Given the description of an element on the screen output the (x, y) to click on. 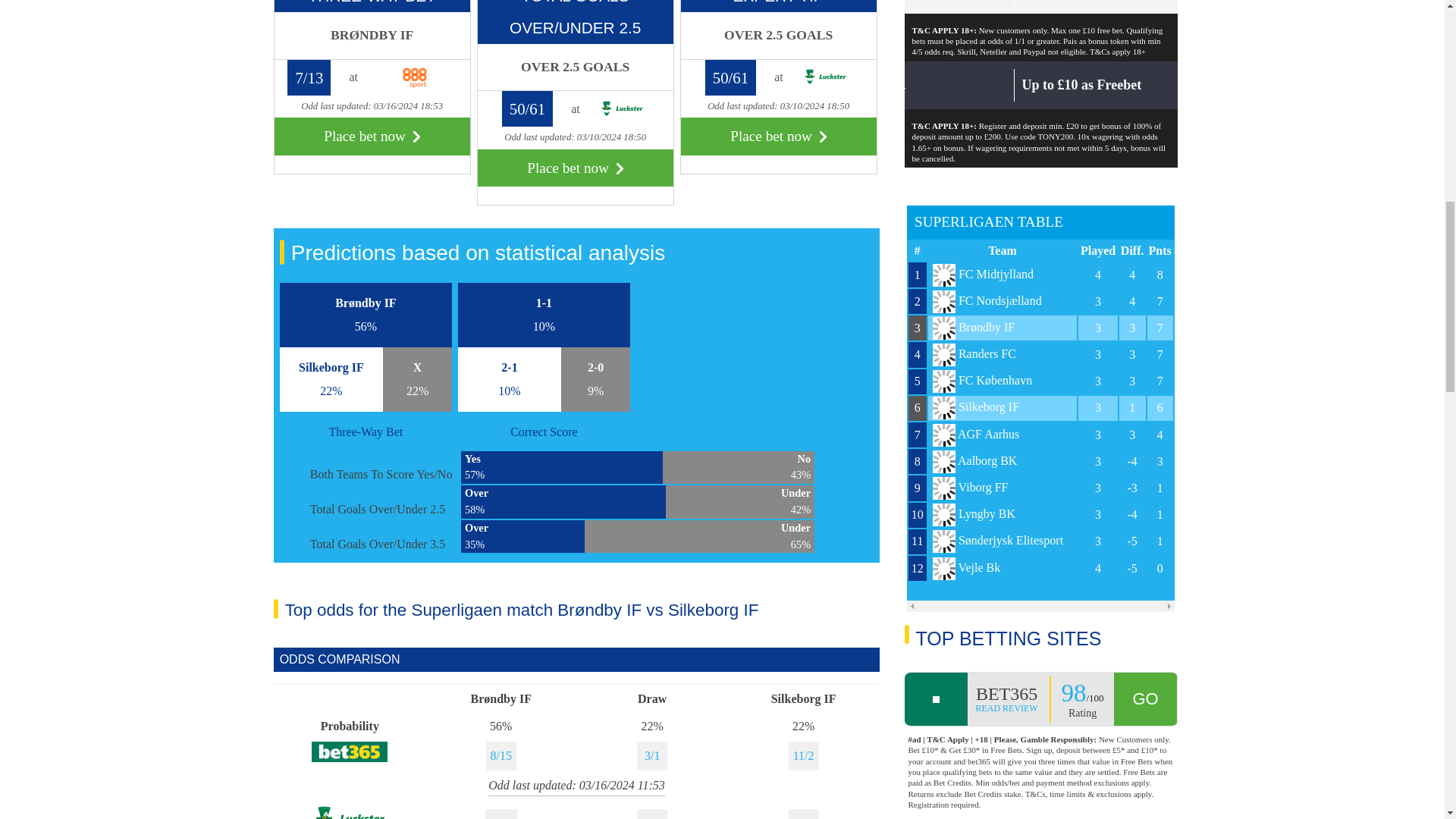
Place bet now (372, 136)
Place bet now (574, 168)
Place bet now (778, 136)
